Given the description of an element on the screen output the (x, y) to click on. 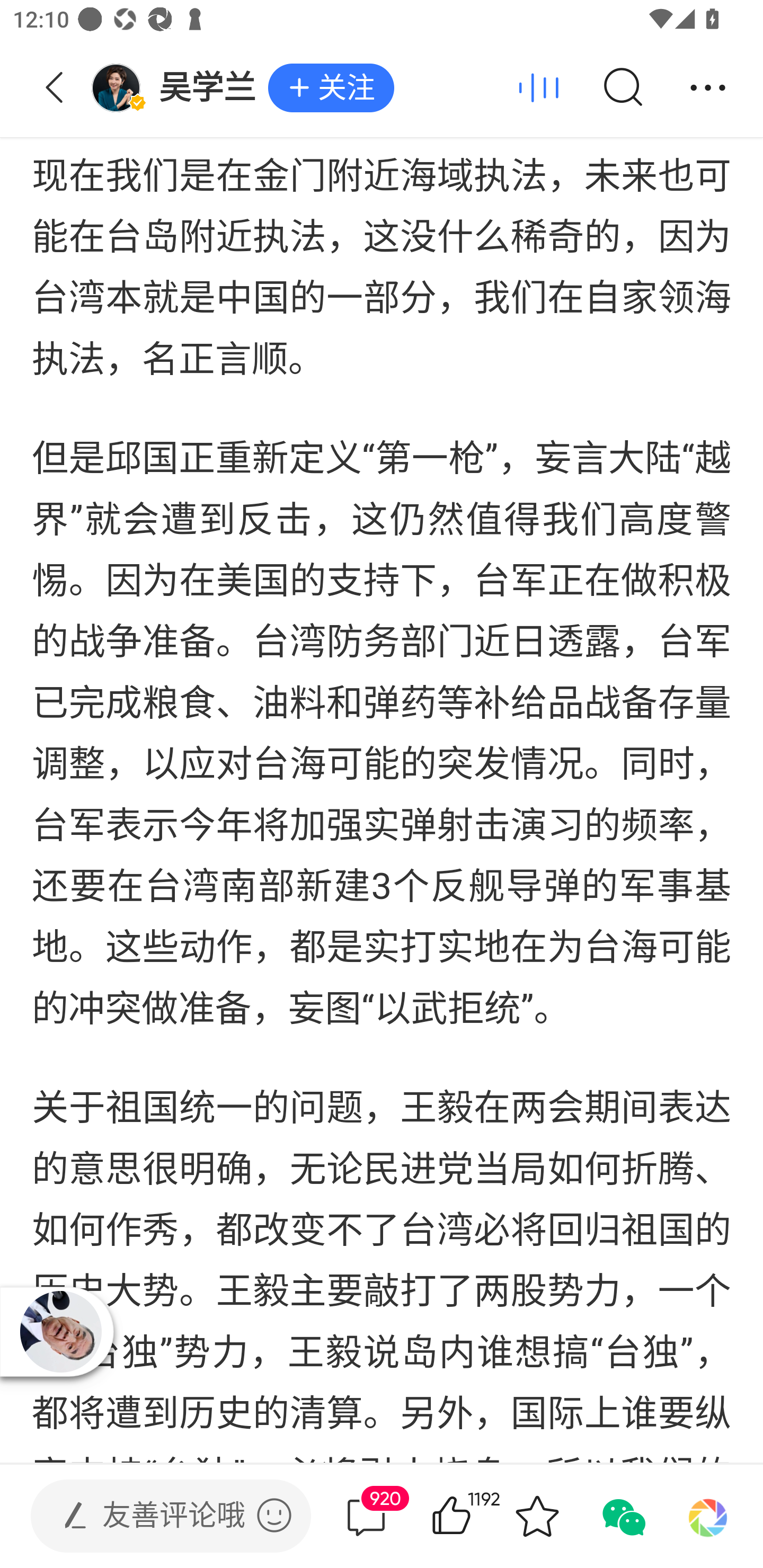
吴学兰 (179, 87)
搜索  (622, 87)
分享  (707, 87)
 返回 (54, 87)
 关注 (330, 88)
播放器 (60, 1331)
发表评论  友善评论哦 发表评论  (155, 1516)
920评论  920 评论 (365, 1516)
1192赞 (476, 1516)
收藏  (536, 1516)
分享到微信  (622, 1516)
分享到朋友圈 (707, 1516)
 (274, 1515)
